Given the description of an element on the screen output the (x, y) to click on. 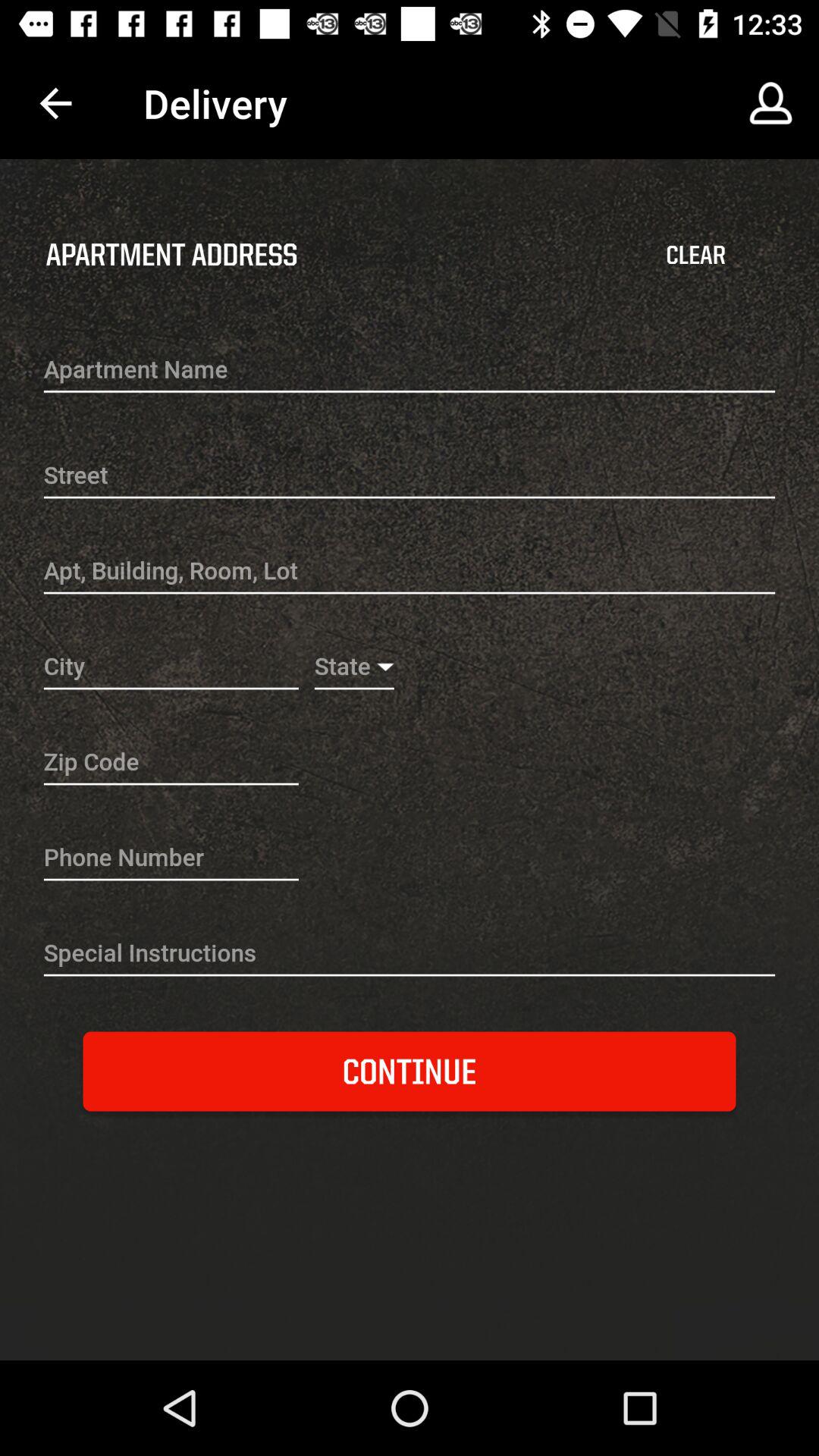
turn off the continue (409, 1071)
